Given the description of an element on the screen output the (x, y) to click on. 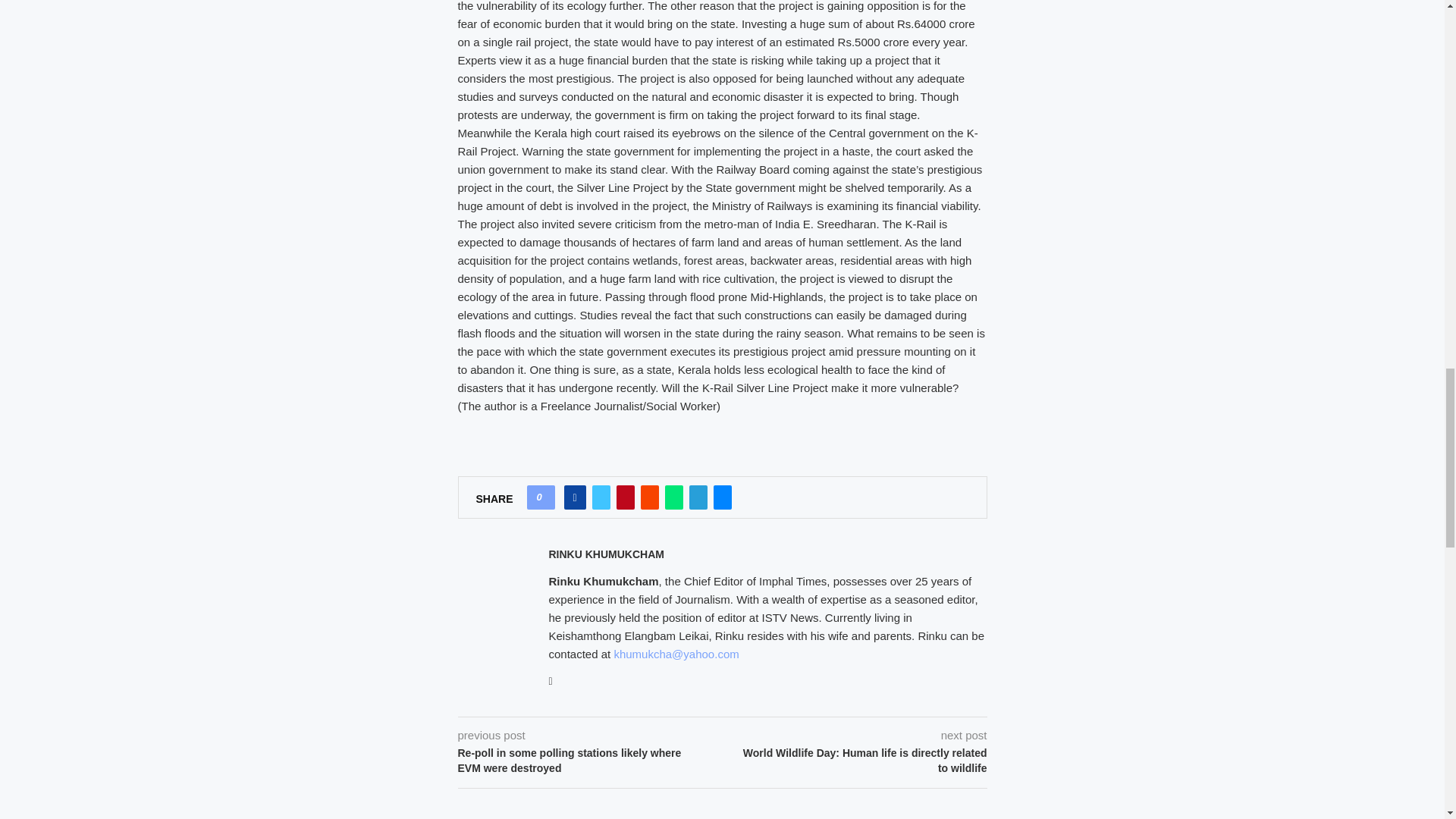
Author Rinku Khumukcham (605, 554)
